Given the description of an element on the screen output the (x, y) to click on. 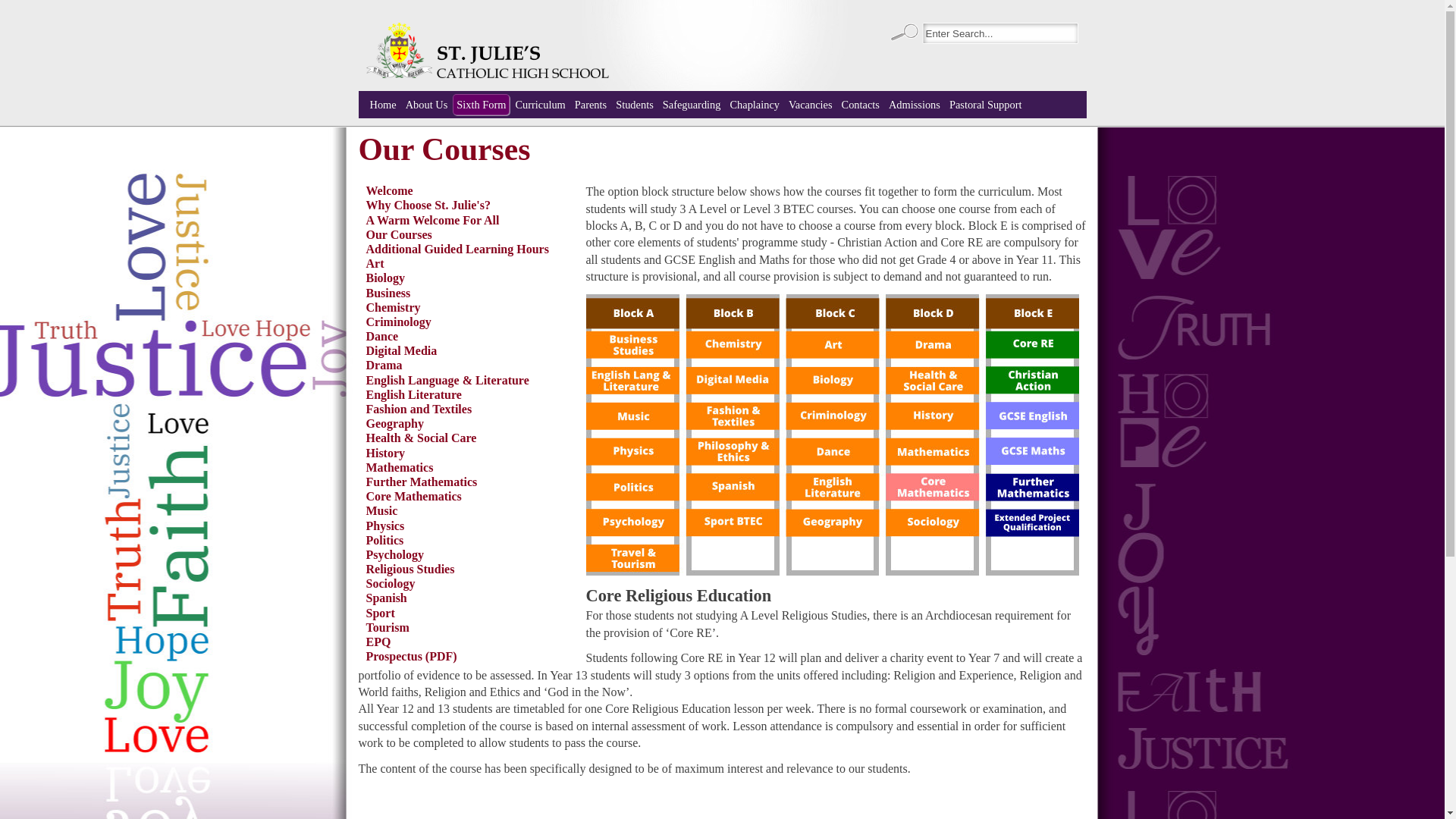
Submit (903, 33)
Sixth Form (480, 104)
Enter Search... (999, 33)
Home (381, 104)
Submit (903, 33)
About Us (426, 104)
Sixth Form (480, 104)
Enter Search... (999, 33)
About Us (426, 104)
